Given the description of an element on the screen output the (x, y) to click on. 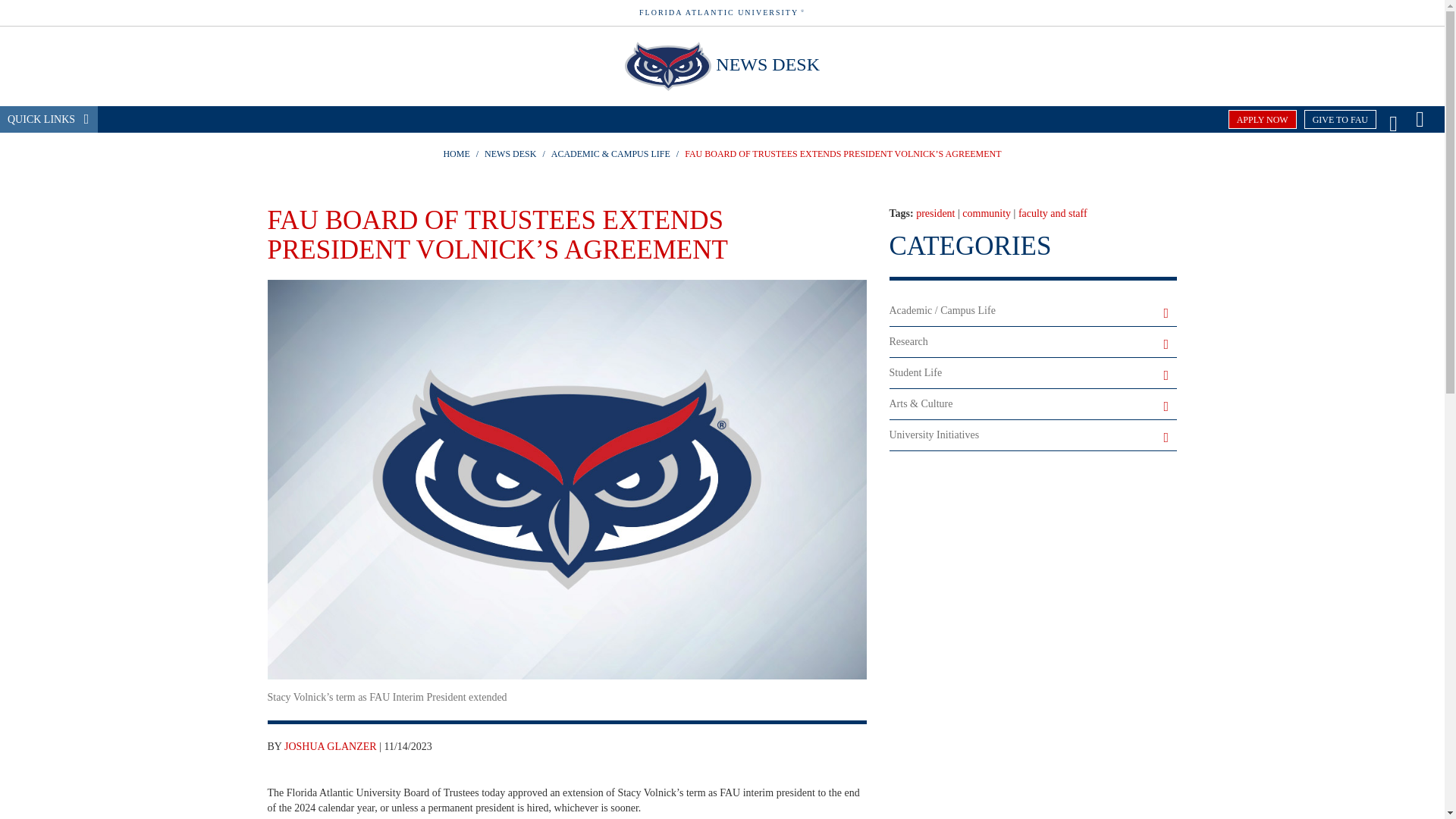
APPLY NOW (1262, 118)
Navigation (1419, 117)
Search (1393, 117)
GIVE TO FAU (1339, 118)
NEWS DESK (767, 64)
QUICK LINKS (48, 119)
